Given the description of an element on the screen output the (x, y) to click on. 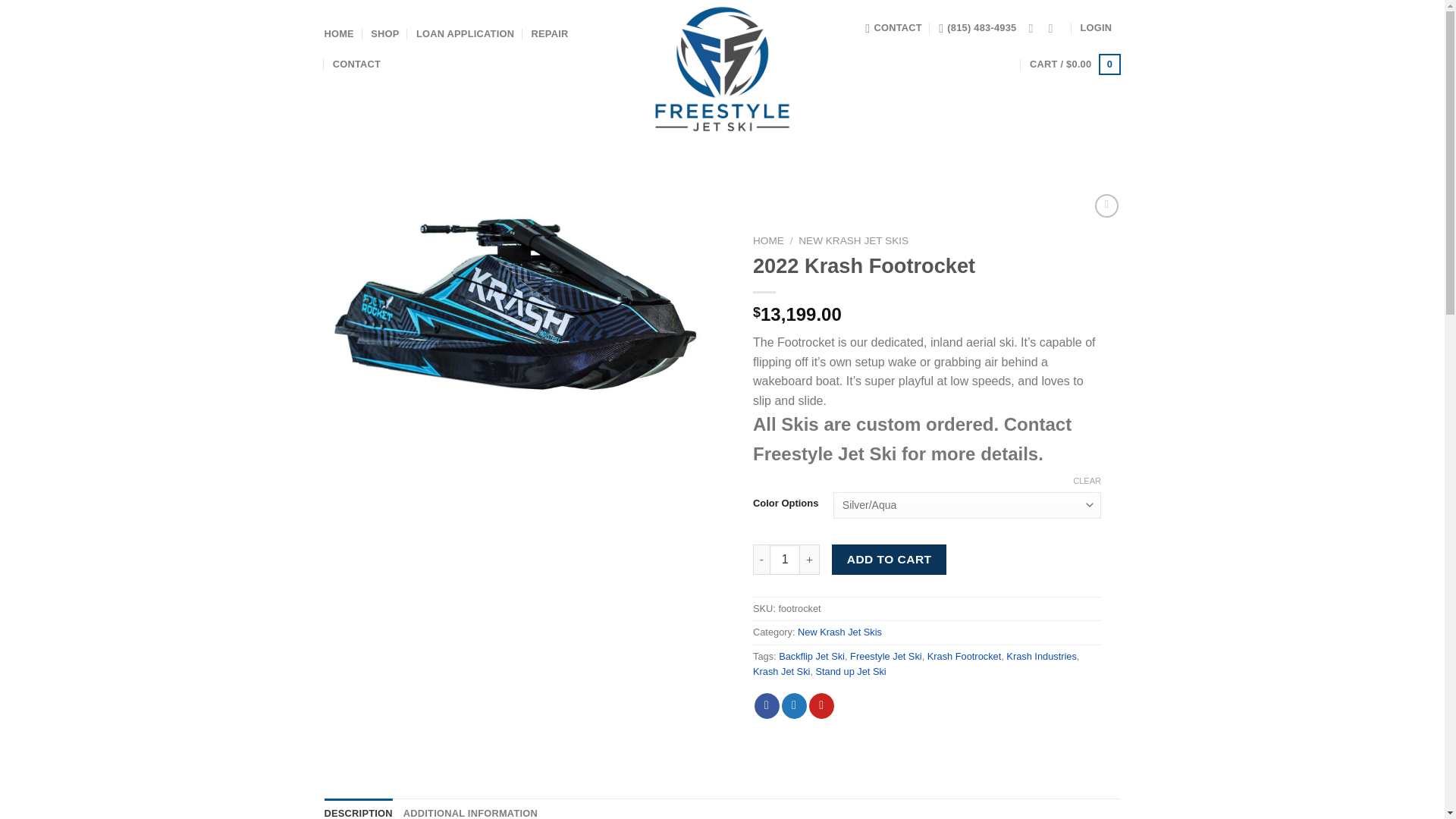
Follow on Instagram (1054, 28)
NEW KRASH JET SKIS (852, 240)
Krash Industries (1040, 655)
Share on Twitter (793, 705)
CLEAR (1086, 480)
Krash Jet Ski (780, 671)
Krash Footrocket (964, 655)
LOAN APPLICATION (464, 33)
ADD TO CART (888, 559)
Pin on Pinterest (821, 705)
Freestyle Jet Ski (885, 655)
New Krash Jet Skis (839, 632)
REPAIR (550, 33)
Stand up Jet Ski (850, 671)
Backflip Jet Ski (811, 655)
